Given the description of an element on the screen output the (x, y) to click on. 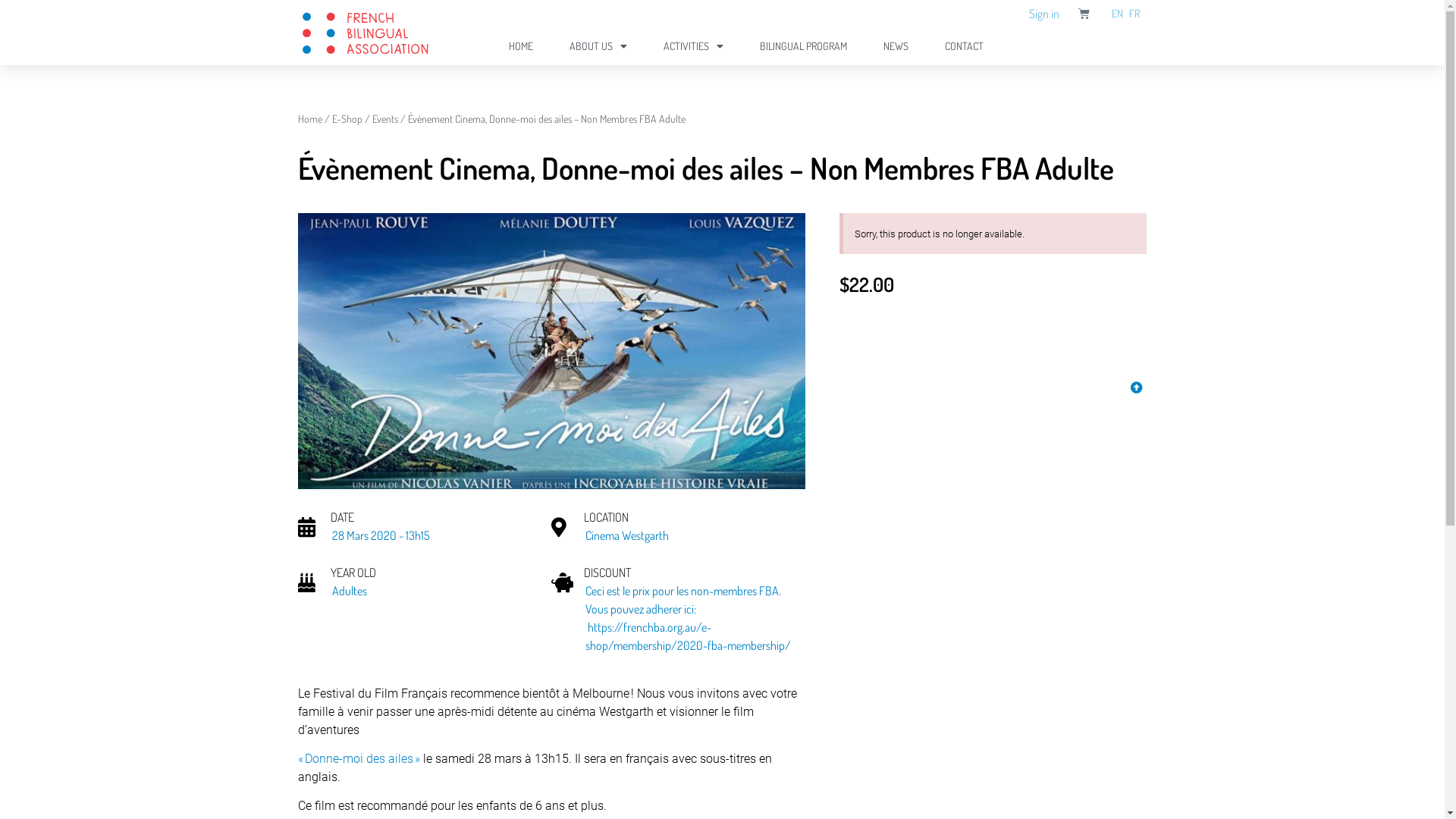
Events Element type: text (384, 118)
Sign in Element type: text (1044, 9)
FR Element type: text (1134, 13)
CONTACT Element type: text (963, 46)
HOME Element type: text (520, 46)
BILINGUAL PROGRAM Element type: text (803, 46)
ABOUT US Element type: text (598, 46)
illustration-donne-moi-des-ailes_1-1582550703 Element type: hover (551, 351)
NEWS Element type: text (895, 46)
E-Shop Element type: text (347, 118)
ACTIVITIES Element type: text (693, 46)
Home Element type: text (309, 118)
EN Element type: text (1117, 13)
